Given the description of an element on the screen output the (x, y) to click on. 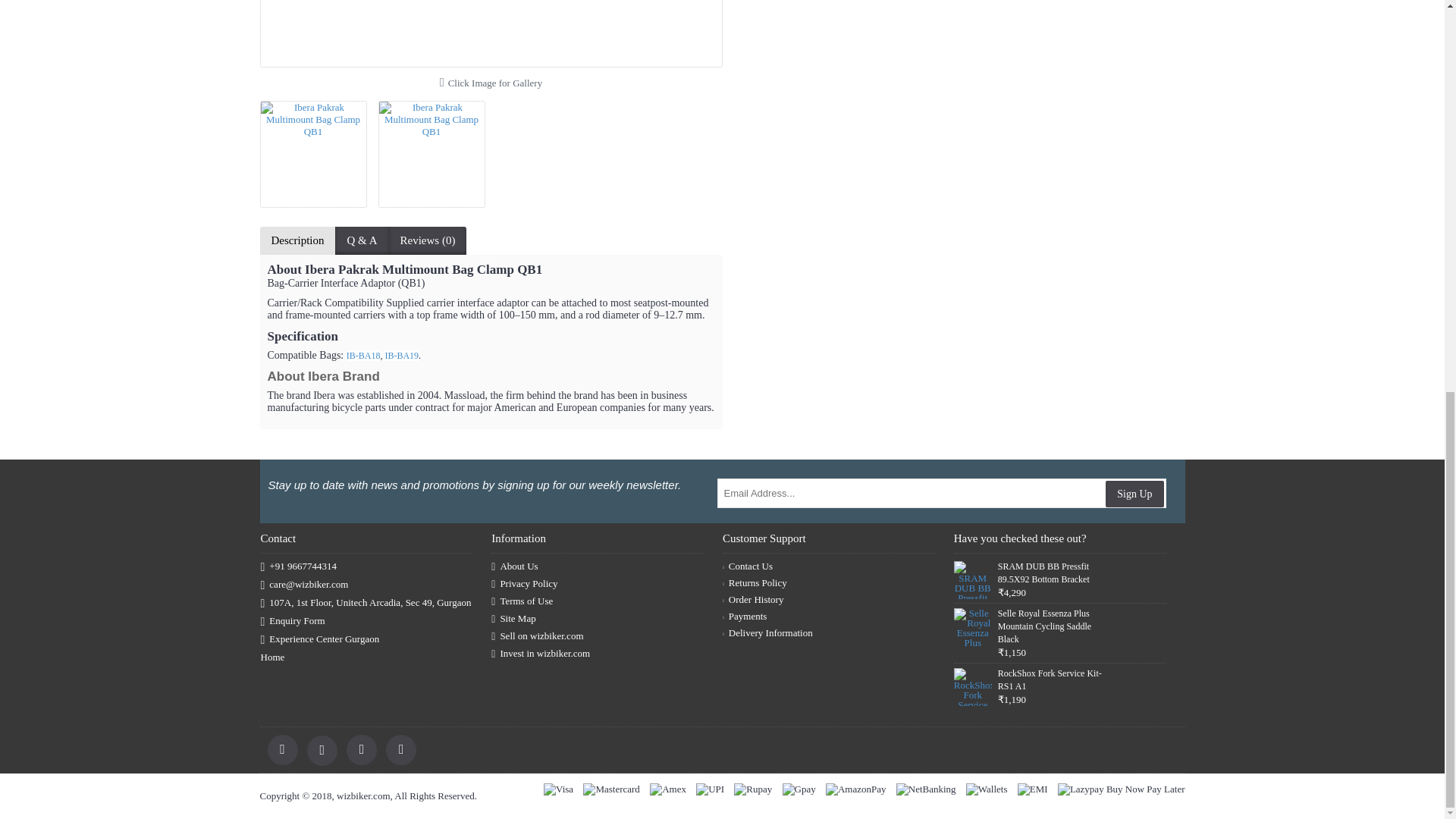
BA19 (401, 355)
Ibera Pakrak Multimount Bag Clamp QB1 (312, 154)
RockShox Fork Service Kit-RS1 A1 (972, 686)
Selle Royal Essenza Plus Mountain Cycling Saddle Black (972, 627)
Ibera Pakrak Multimount Bag Clamp QB1 (318, 148)
Ibera Pakrak Multimount Bag Clamp QB1 (490, 33)
Ibera Pakrak Multimount Bag Clamp QB1 (436, 148)
SRAM DUB BB Pressfit 89.5X92 Bottom Bracket (972, 579)
BA18 (363, 355)
Ibera Pakrak Multimount Bag Clamp QB1 (430, 154)
